Given the description of an element on the screen output the (x, y) to click on. 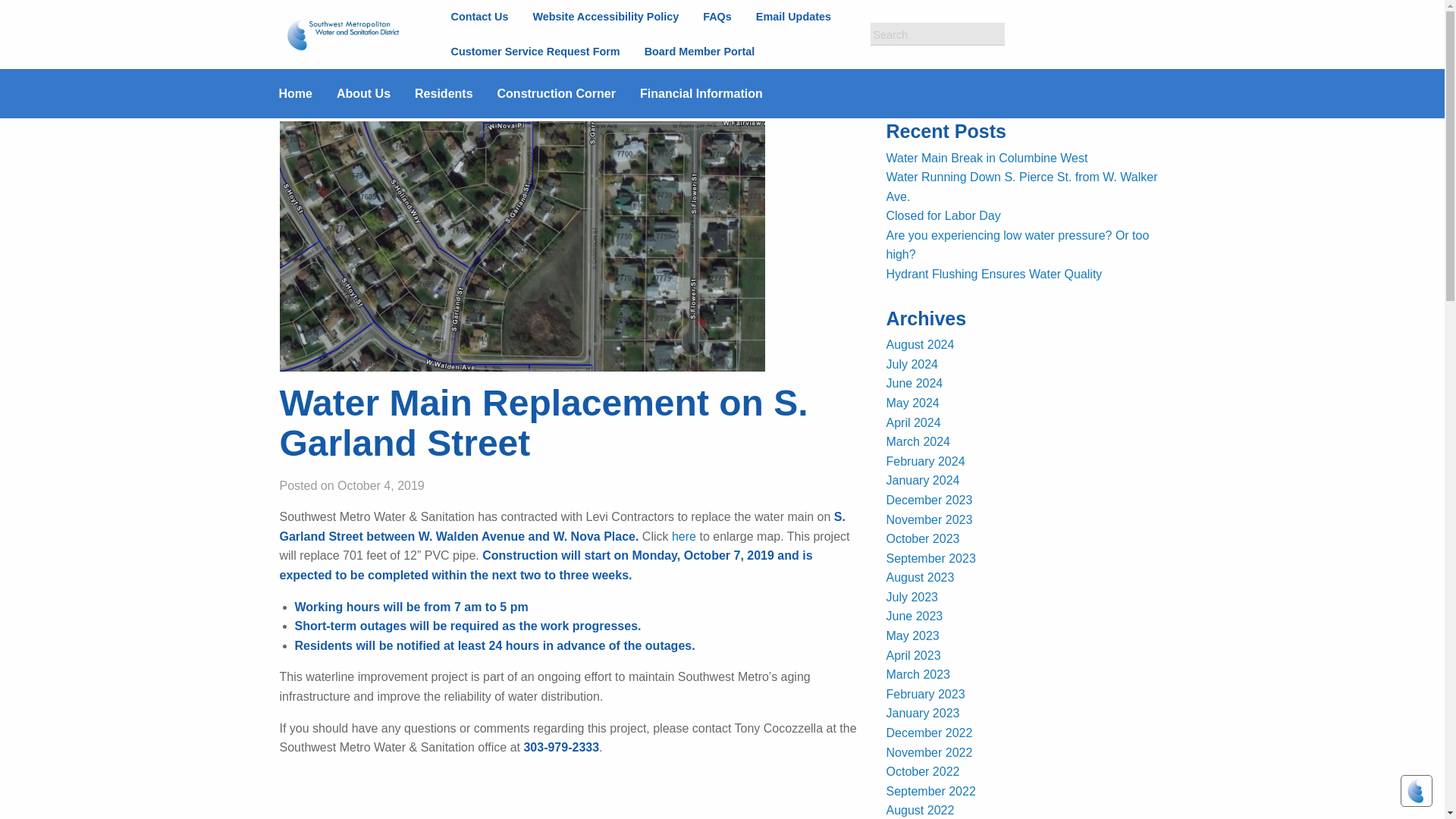
Customer Service Request Form (534, 50)
Board Member Portal (699, 50)
Email Updates (793, 17)
Website Accessibility Policy (604, 17)
Contact Us (478, 17)
About Us (375, 93)
Home (307, 93)
Residents (455, 93)
Search for: (937, 33)
Construction Corner (568, 93)
